Given the description of an element on the screen output the (x, y) to click on. 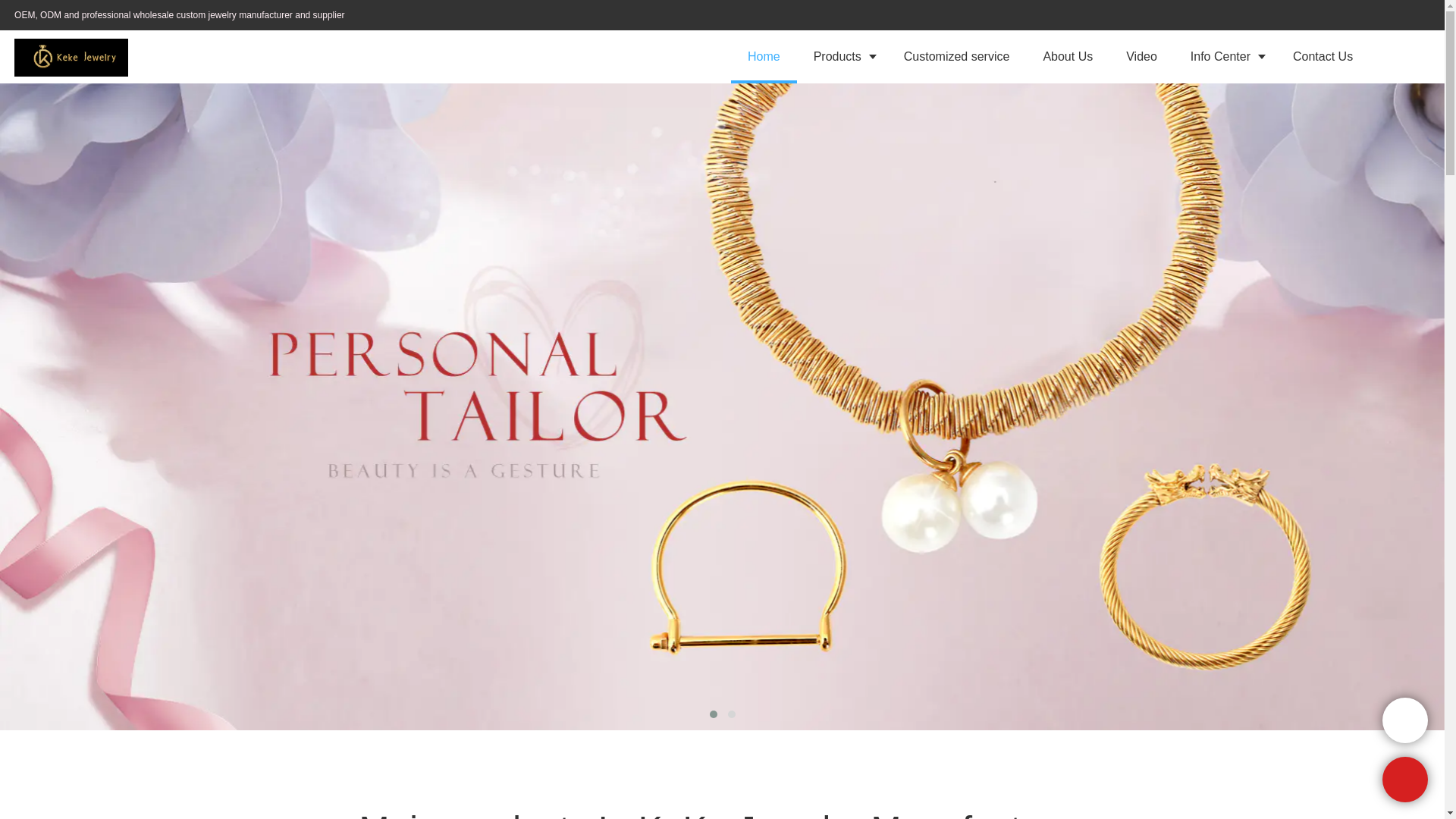
Customized service (956, 56)
Home (763, 56)
Products (841, 56)
About Us (1067, 56)
